Given the description of an element on the screen output the (x, y) to click on. 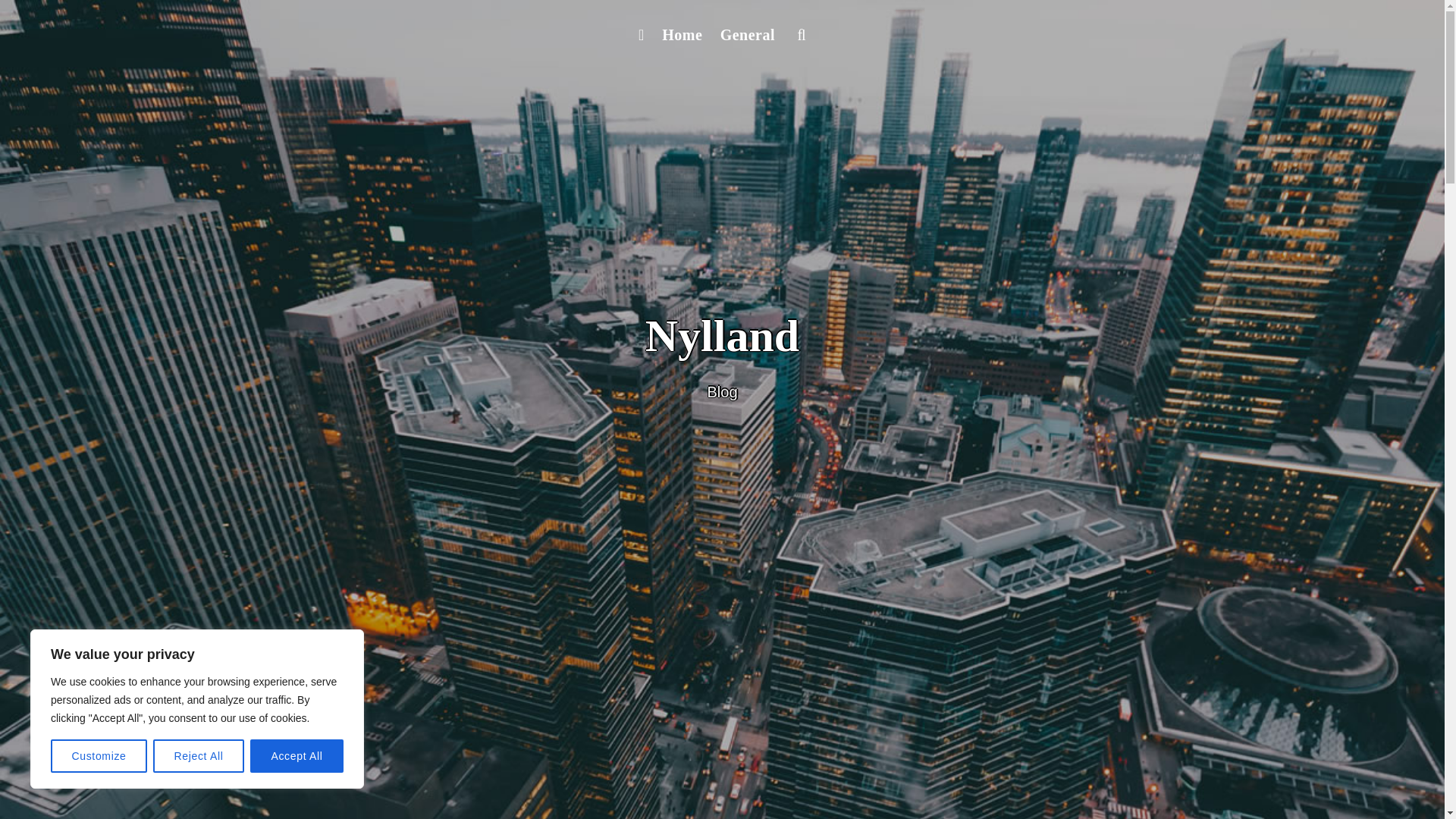
Customize (98, 756)
General (747, 35)
Reject All (198, 756)
Accept All (296, 756)
Home (681, 35)
Nylland (722, 336)
